Given the description of an element on the screen output the (x, y) to click on. 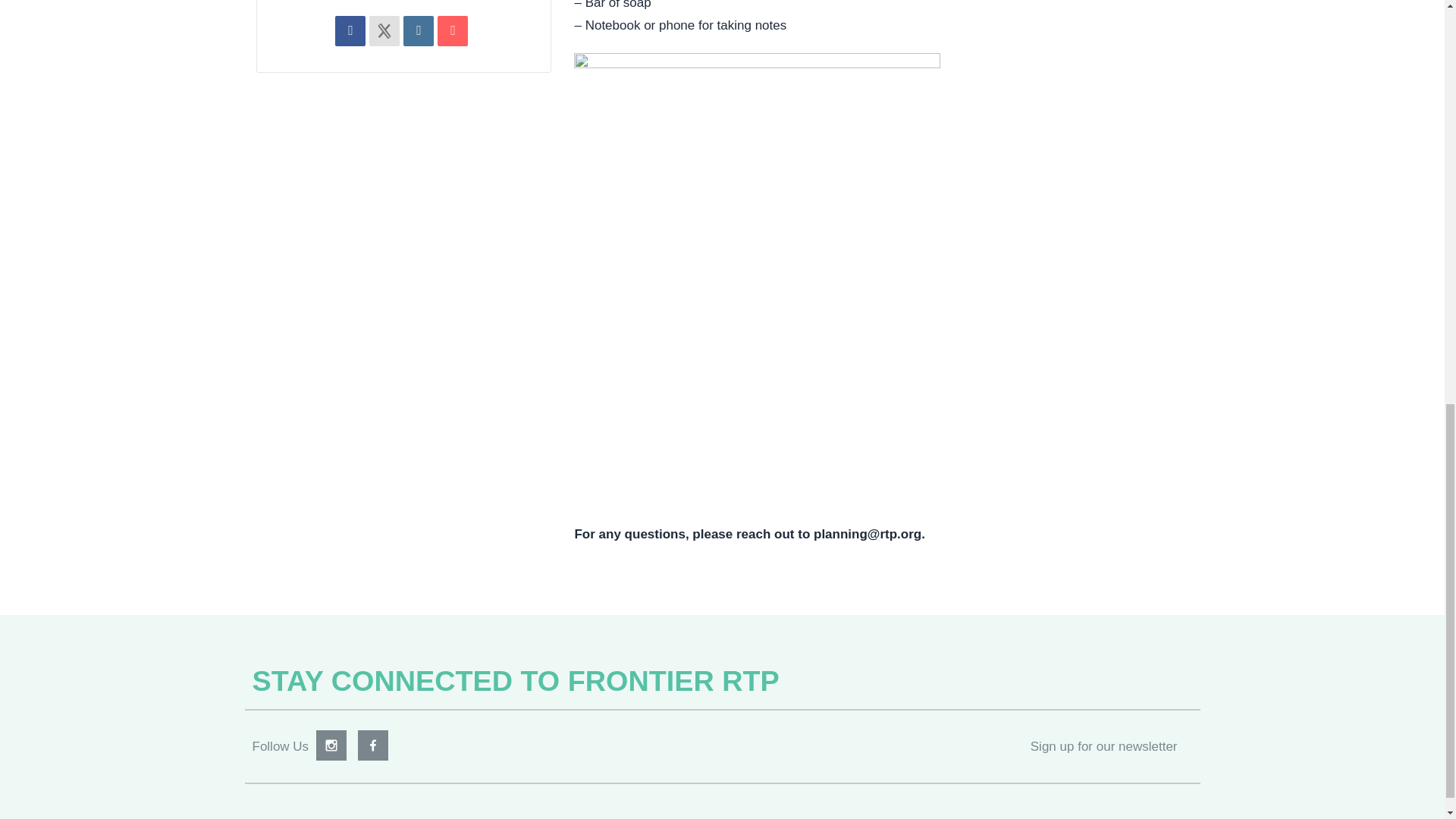
Facebook (373, 745)
Instagram (330, 745)
Linkedin (418, 30)
X Social Network (383, 30)
Share on Facebook (349, 30)
Email (452, 30)
